Given the description of an element on the screen output the (x, y) to click on. 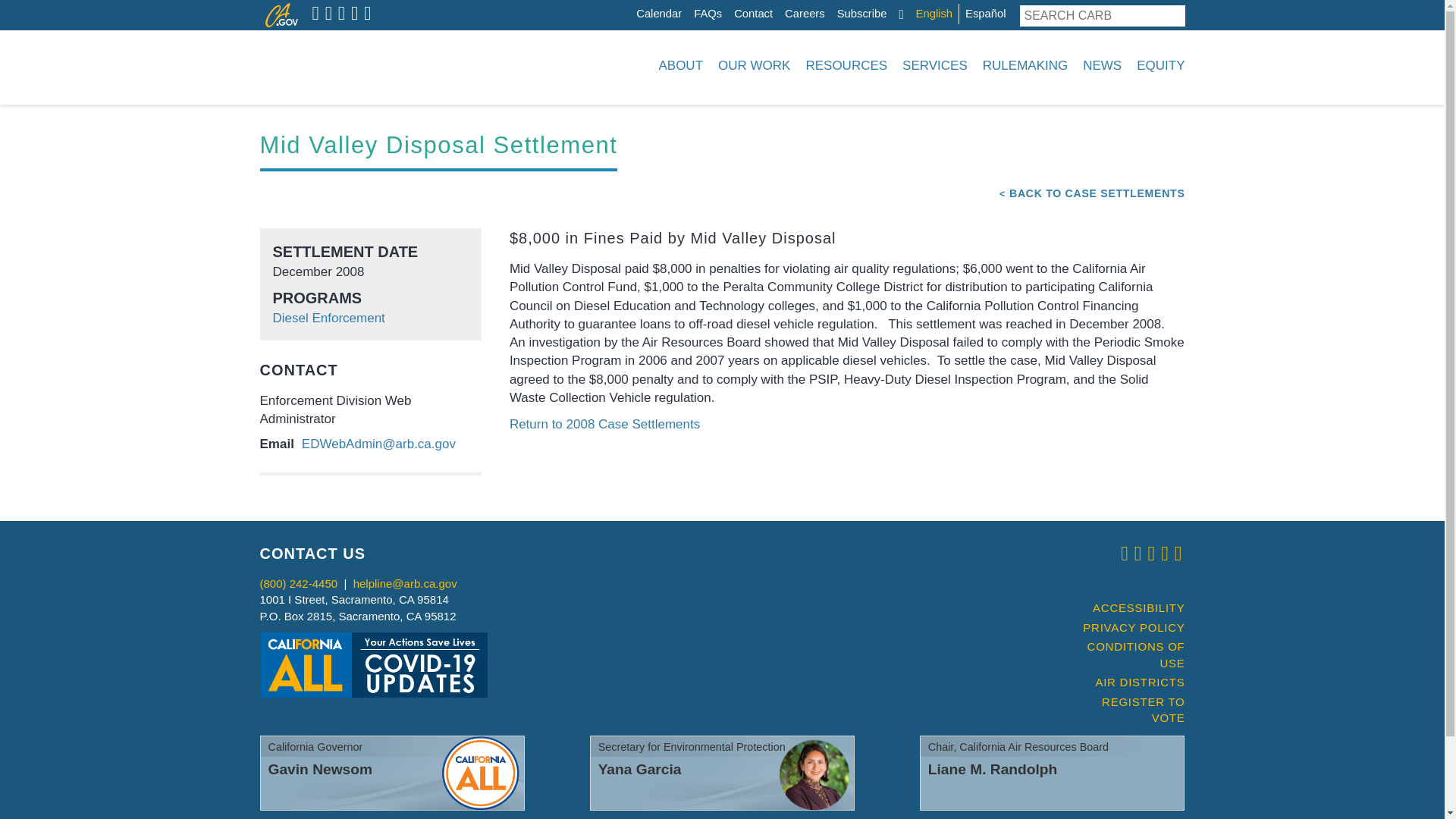
FAQs (708, 14)
OUR WORK (753, 65)
ABOUT (680, 65)
Enter the terms you wish to search for. (1091, 15)
Calendar (658, 14)
Home (353, 65)
Contact (753, 14)
Skip to main content (639, 4)
Search (1174, 15)
SERVICES (935, 65)
